Given the description of an element on the screen output the (x, y) to click on. 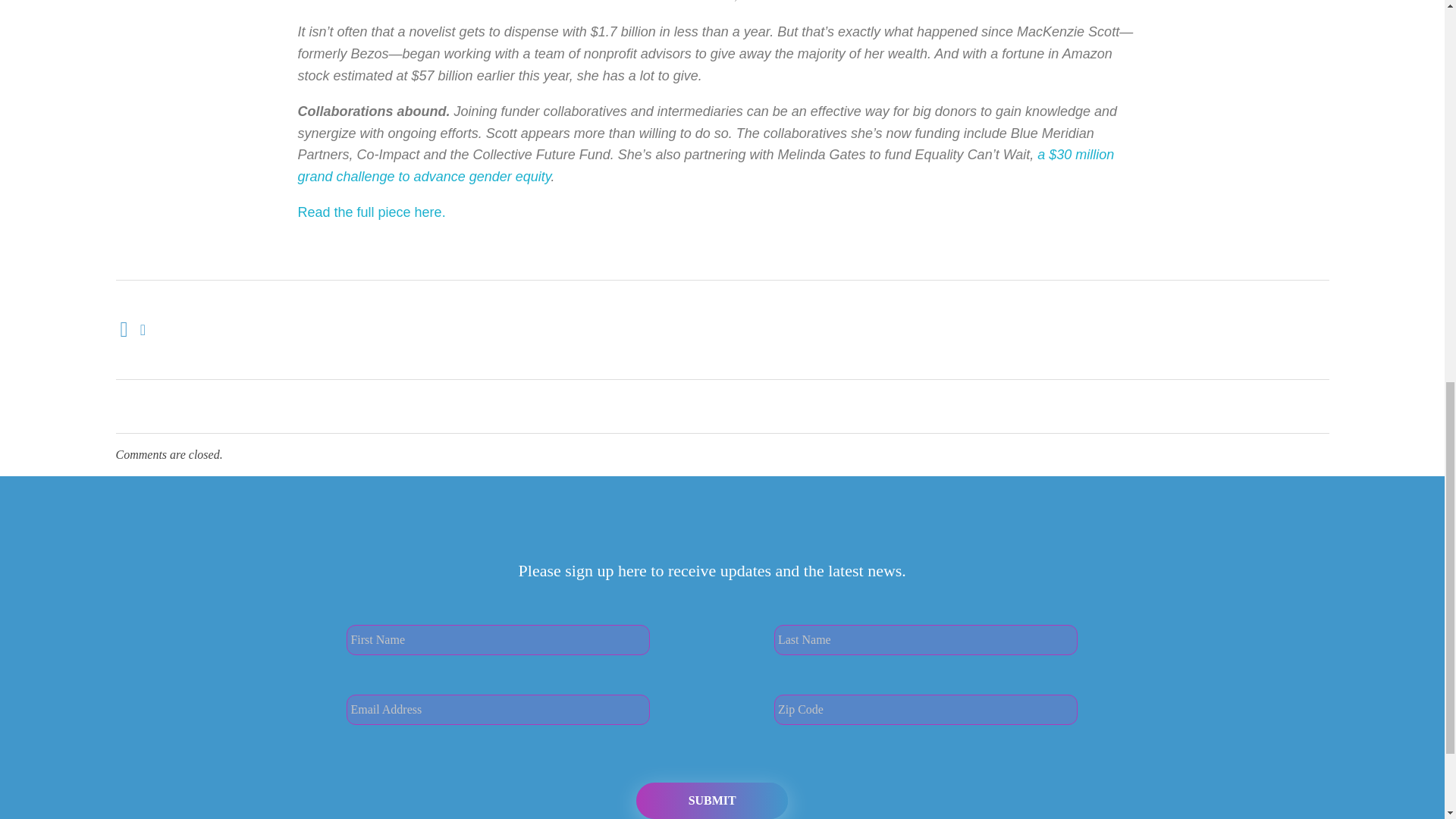
Read the full piece here. (371, 212)
Submit (711, 800)
Submit (711, 800)
